Given the description of an element on the screen output the (x, y) to click on. 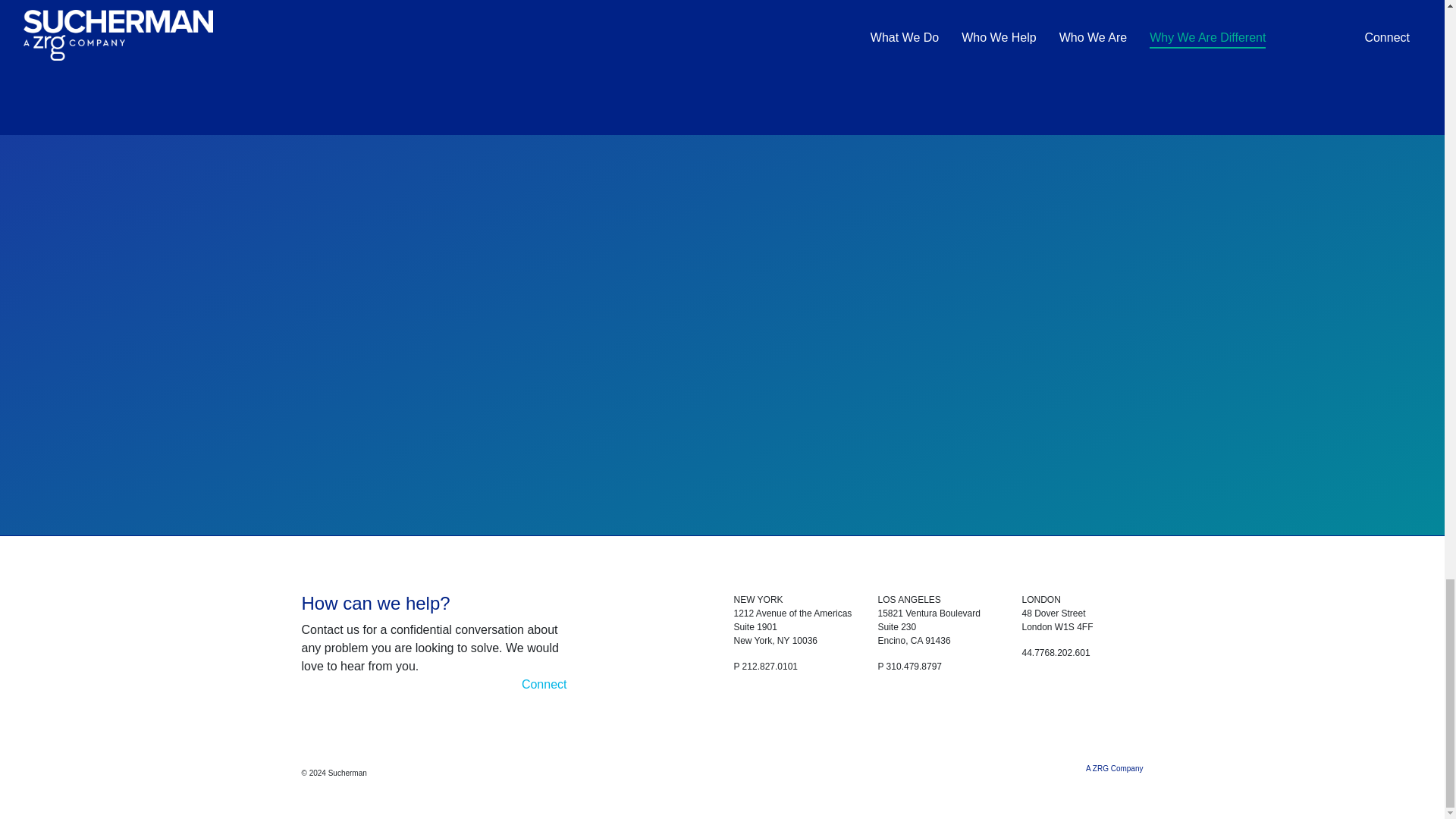
A ZRG Company (1114, 767)
Connect (544, 684)
